Given the description of an element on the screen output the (x, y) to click on. 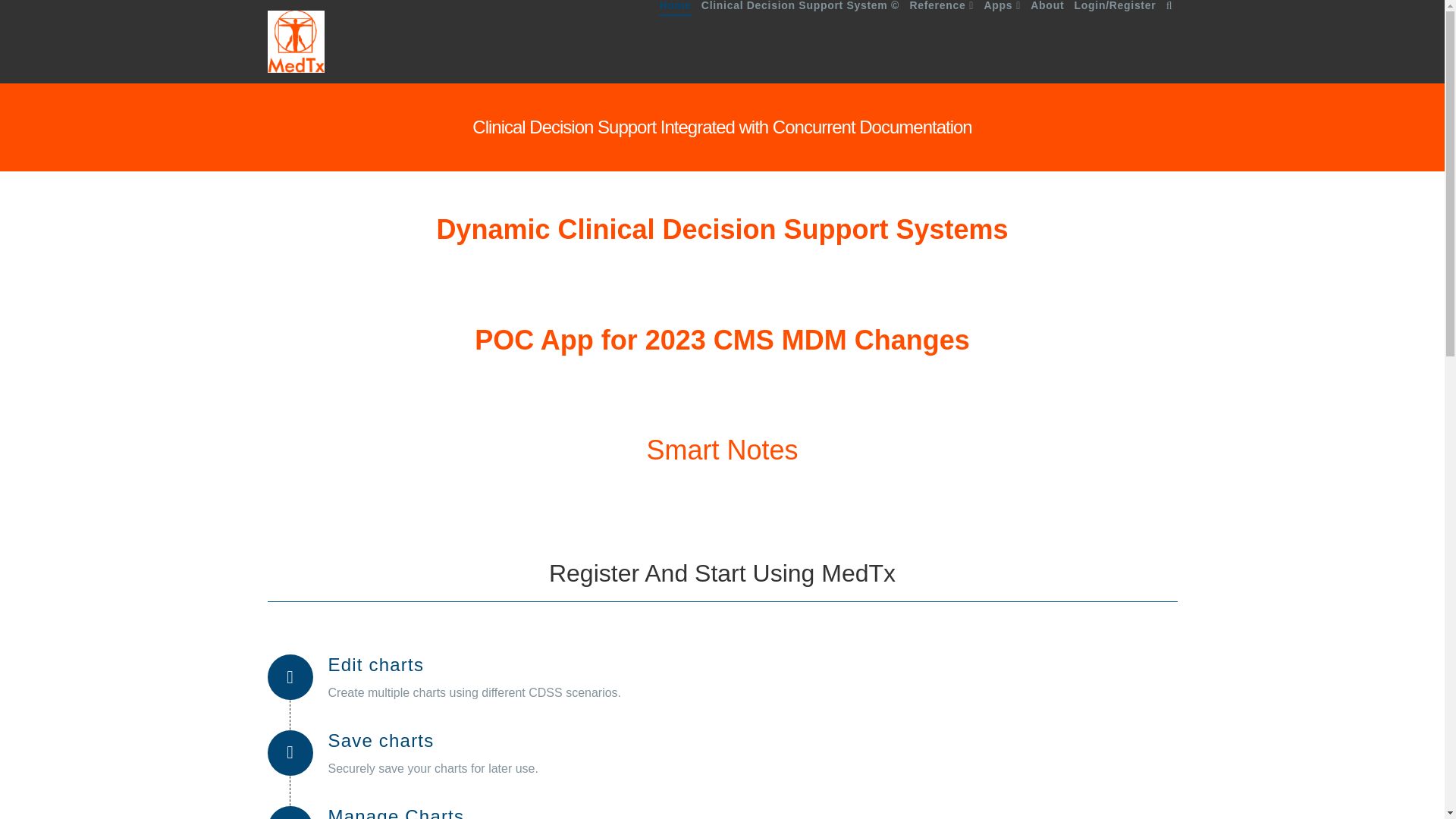
Smart Notes (721, 450)
POC App for 2023 CMS MDM Changes (721, 339)
Reference (941, 41)
